Given the description of an element on the screen output the (x, y) to click on. 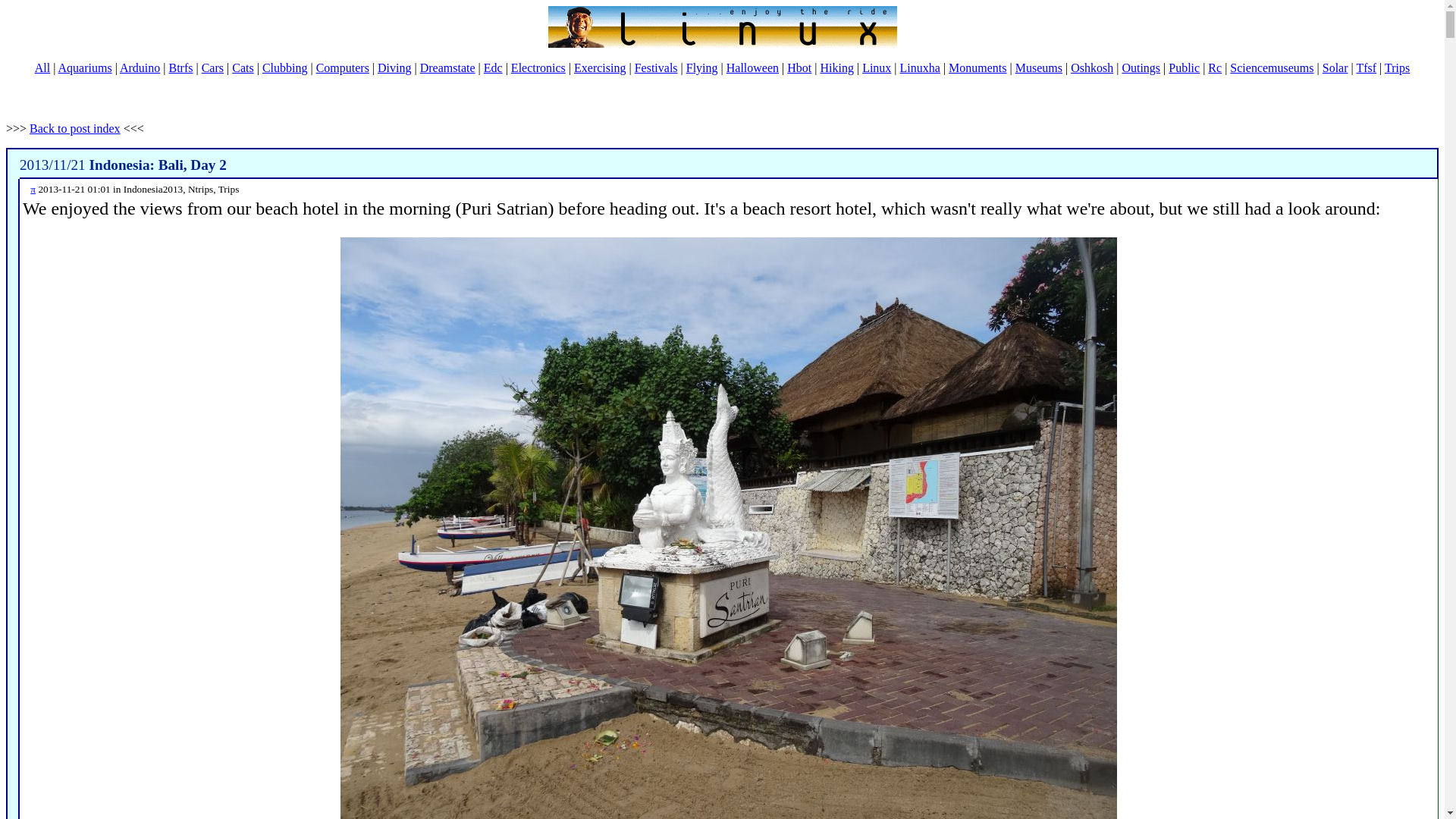
Monuments (977, 67)
Exercising (599, 67)
Sciencemuseums (1271, 67)
All (41, 67)
Cats (242, 67)
Computers (342, 67)
Back to post index (74, 128)
Arduino (139, 67)
Trips (1396, 67)
Solar (1335, 67)
